Given the description of an element on the screen output the (x, y) to click on. 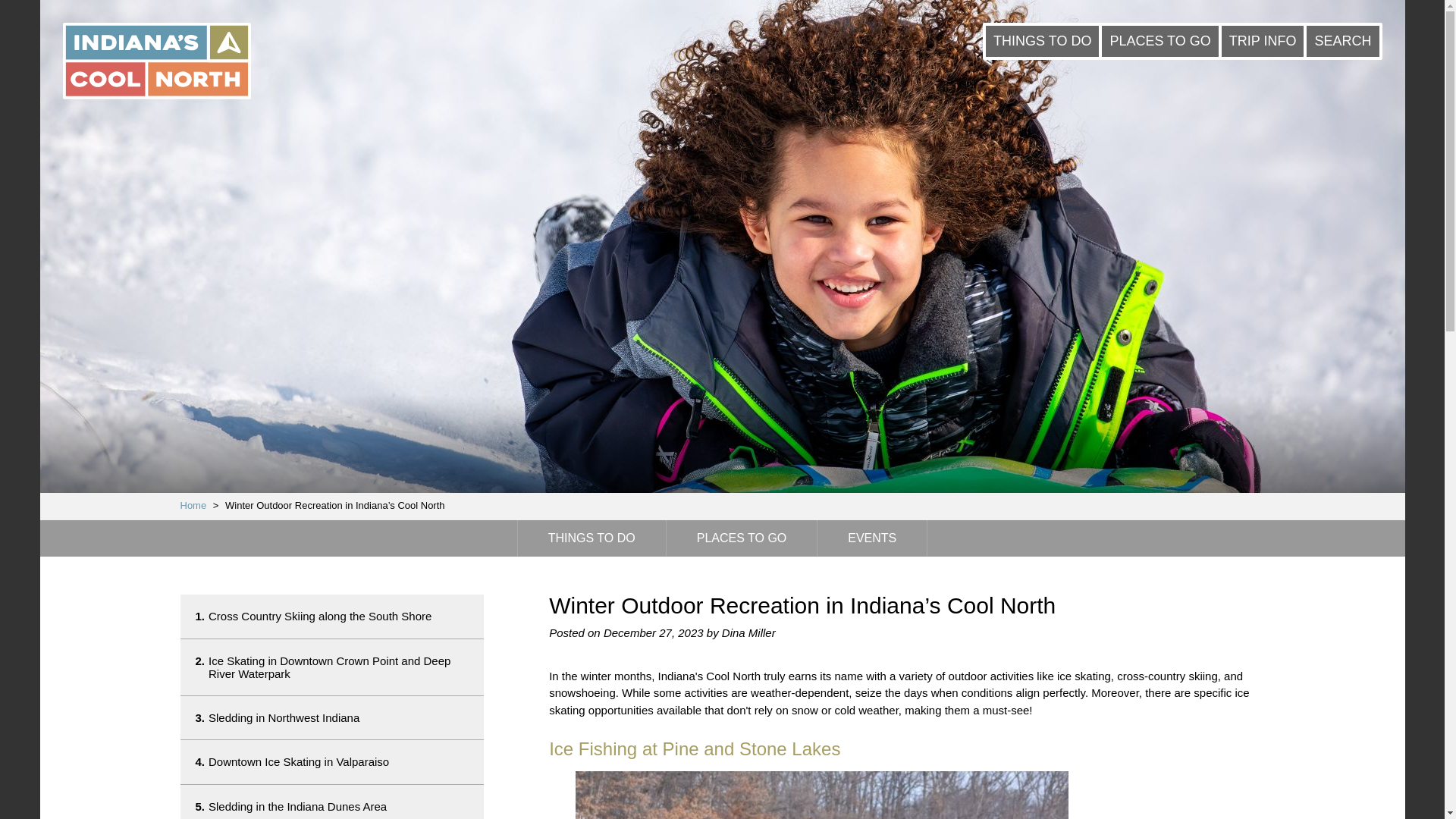
Sledding in the Indiana Dunes Area (331, 801)
Homepage (193, 505)
PLACES TO GO (741, 538)
THINGS TO DO (1042, 40)
EVENTS (871, 538)
THINGS TO DO (591, 538)
SEARCH (331, 616)
Downtown Ice Skating in Valparaiso (1342, 40)
Sledding in Northwest Indiana (331, 761)
Indiana's Cool North (331, 717)
Home (156, 62)
Ice Skating in Downtown Crown Point and Deep River Waterpark (193, 505)
TRIP INFO (331, 667)
Cross Country Skiing along the South Shore (1262, 40)
